Given the description of an element on the screen output the (x, y) to click on. 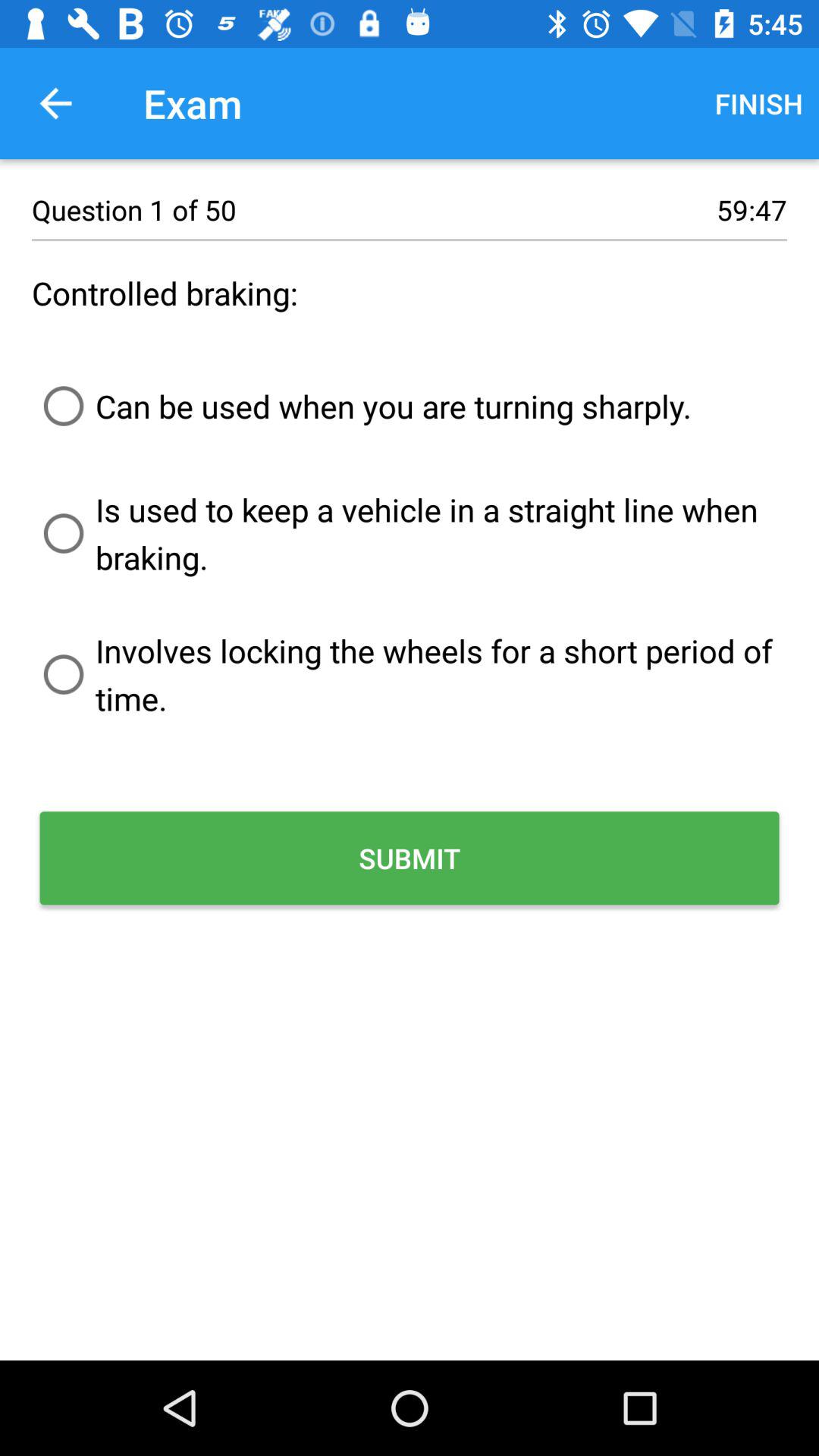
select is used to (409, 532)
